Given the description of an element on the screen output the (x, y) to click on. 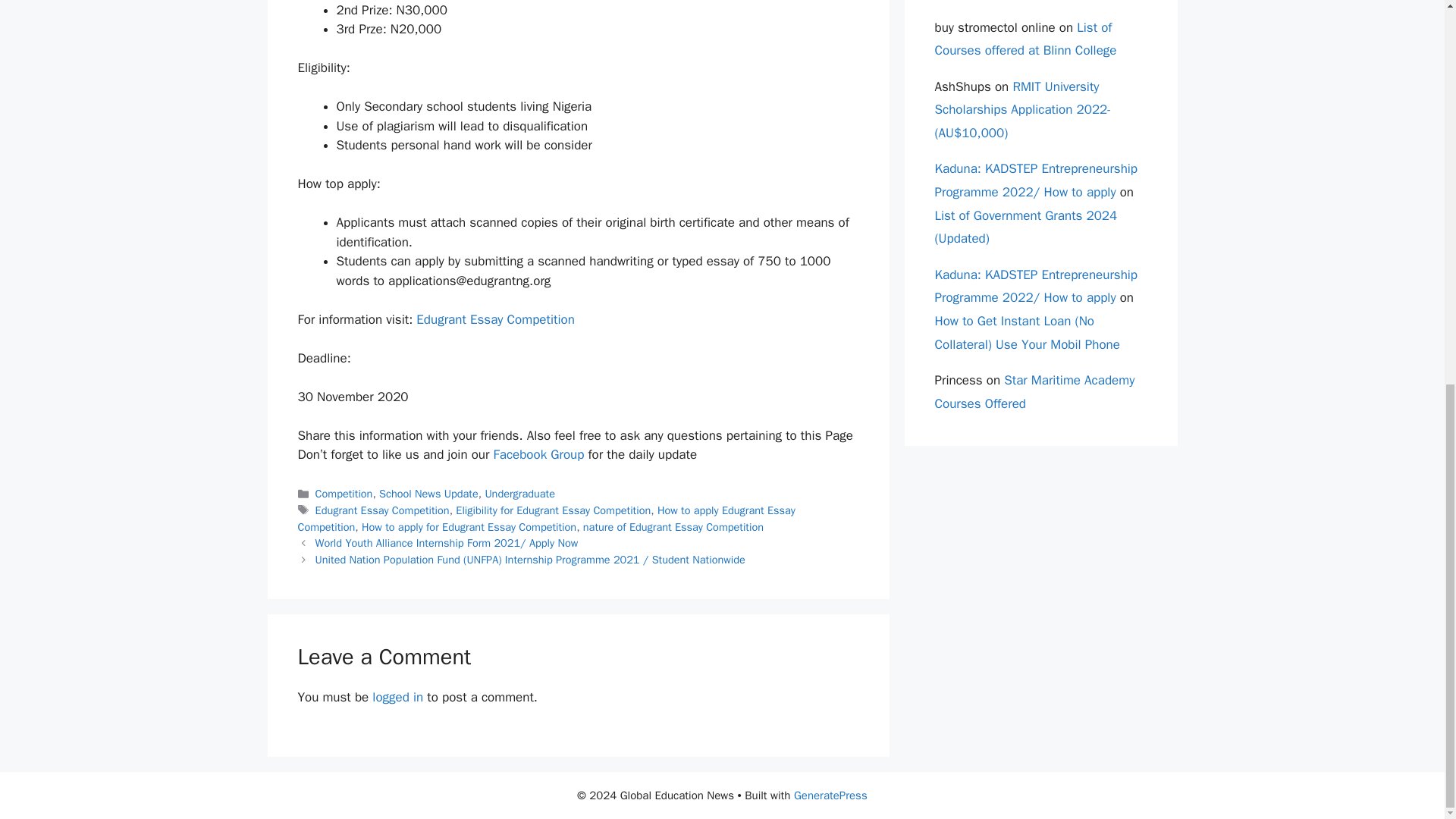
Edugrant Essay Competition (494, 319)
Competition (343, 493)
Eligibility for Edugrant Essay Competition (552, 509)
How to apply Edugrant Essay Competition (545, 518)
Star Maritime Academy Courses Offered (1034, 391)
logged in (397, 697)
Undergraduate (519, 493)
List of Courses offered at Blinn College (1025, 38)
Facebook Group (539, 454)
Edugrant Essay Competition (382, 509)
How to apply for Edugrant Essay Competition (468, 526)
School News Update (428, 493)
GeneratePress (830, 795)
nature of Edugrant Essay Competition (672, 526)
